Given the description of an element on the screen output the (x, y) to click on. 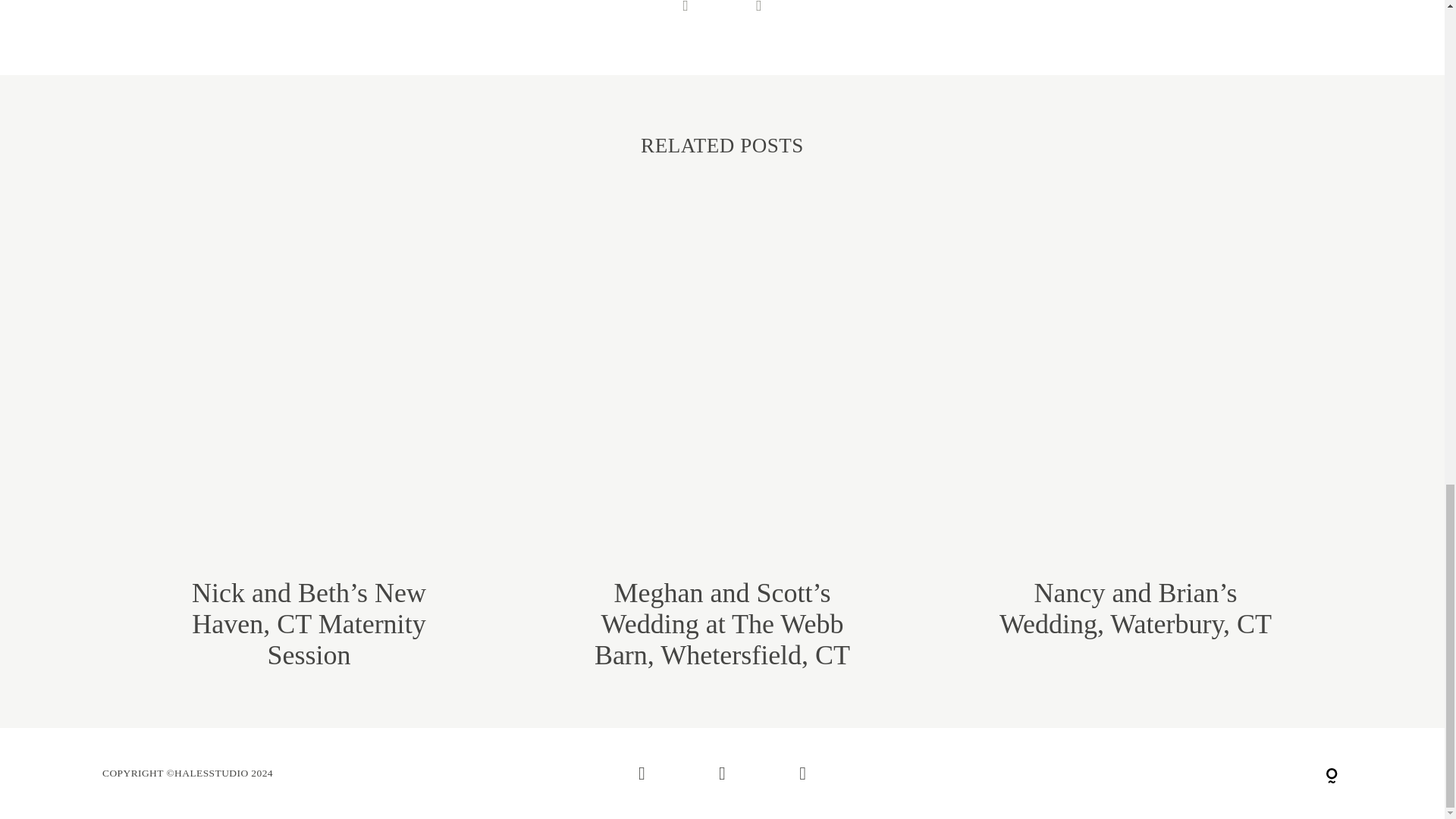
Sorry, your browser does not support inline SVG. (1331, 776)
Sorry, your browser does not support inline SVG. (1135, 773)
